Given the description of an element on the screen output the (x, y) to click on. 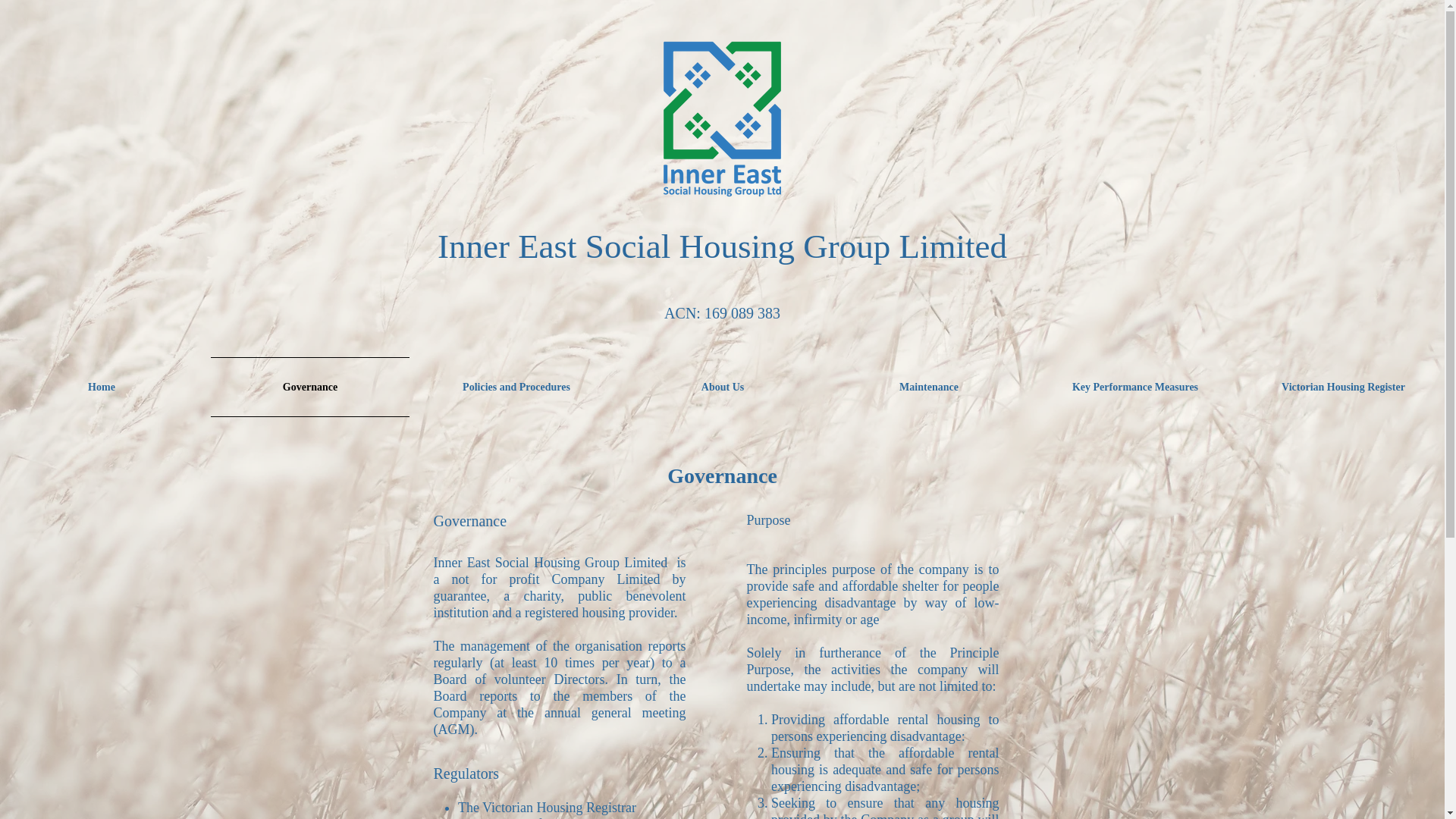
Maintenance Element type: text (928, 387)
Key Performance Measures Element type: text (1135, 387)
Governance Element type: text (310, 387)
Inner East Social Housing Group Limited Element type: text (722, 246)
About Us Element type: text (722, 387)
Home Element type: text (103, 387)
Victorian Housing Register Element type: text (1341, 387)
Policies and Procedures Element type: text (516, 387)
